Given the description of an element on the screen output the (x, y) to click on. 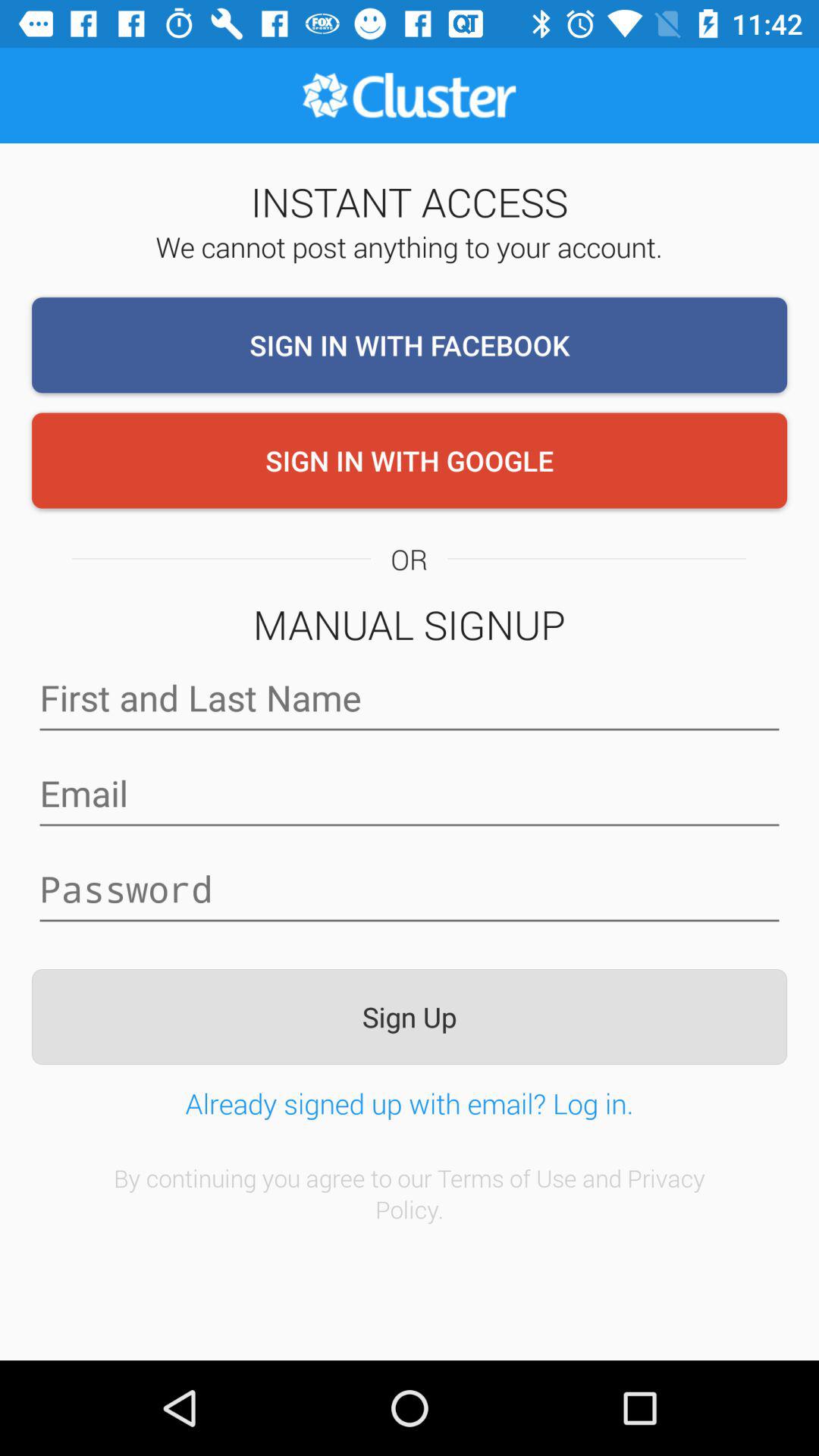
enter password (409, 889)
